Given the description of an element on the screen output the (x, y) to click on. 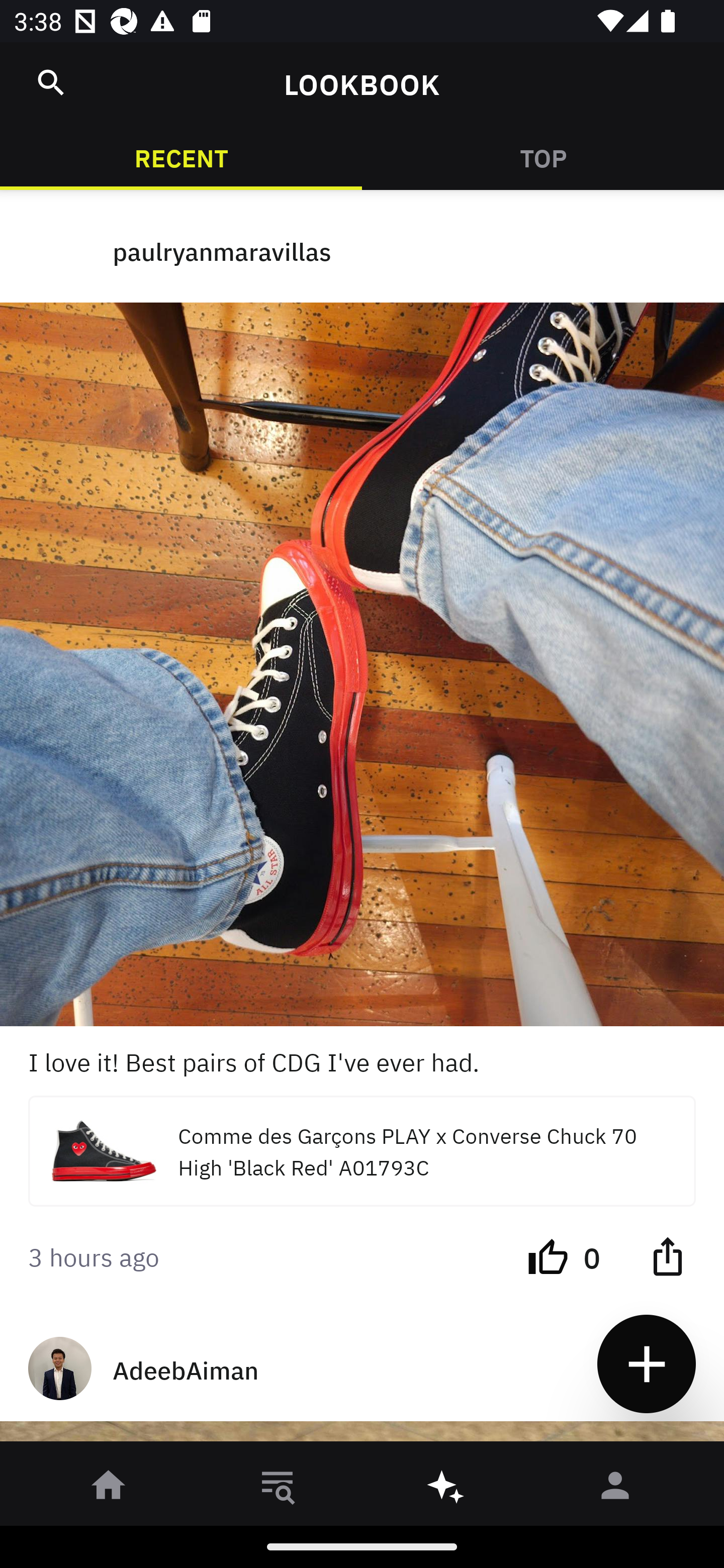
 (51, 82)
RECENT (181, 156)
TOP (543, 156)
I love it! Best pairs of CDG I've ever had. (362, 1060)
󰔔 (547, 1255)
 (667, 1255)
󰋜 (108, 1488)
󱎸 (277, 1488)
󰫢 (446, 1488)
󰀄 (615, 1488)
